Given the description of an element on the screen output the (x, y) to click on. 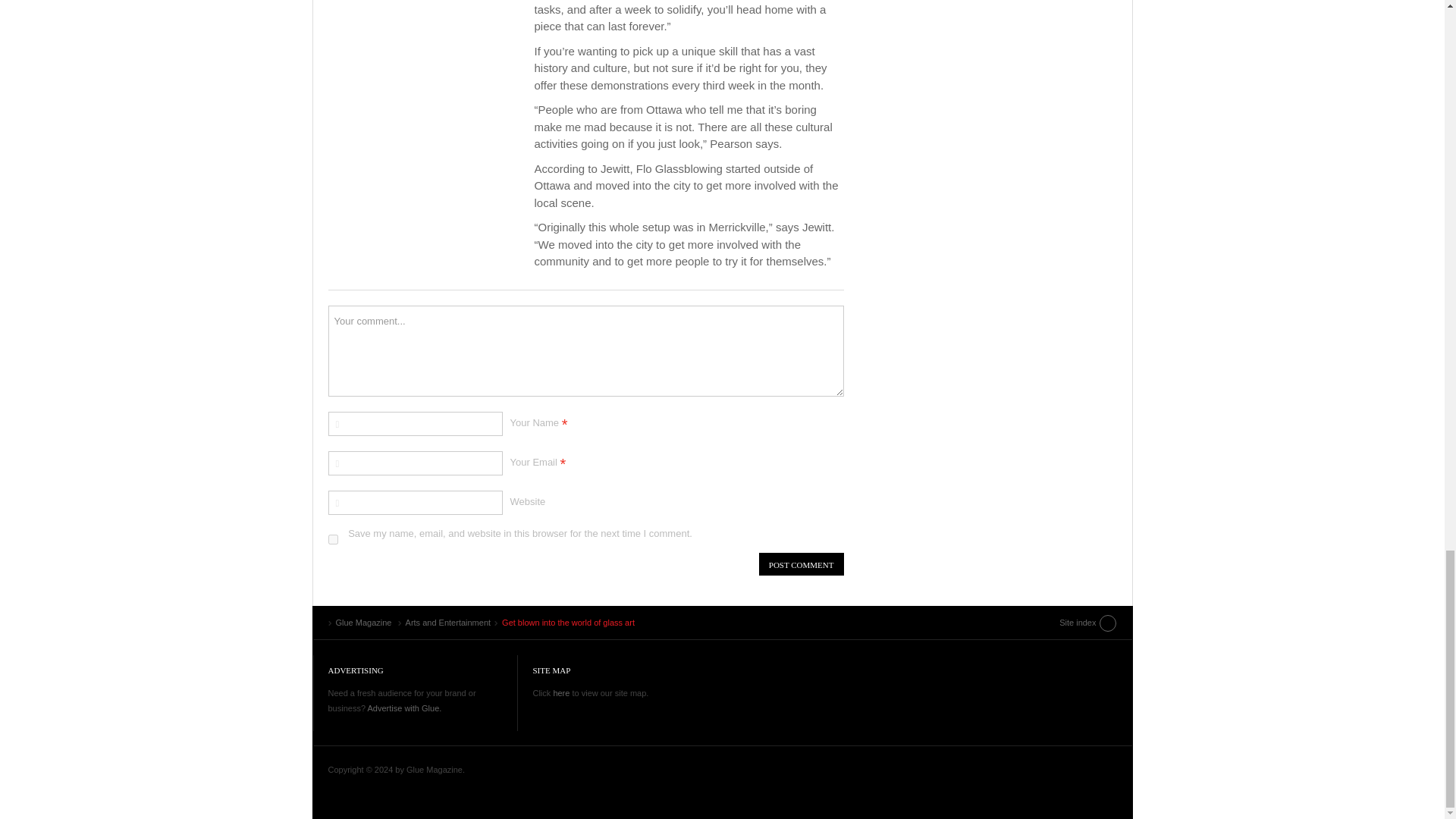
Post Comment (801, 563)
yes (332, 539)
